Given the description of an element on the screen output the (x, y) to click on. 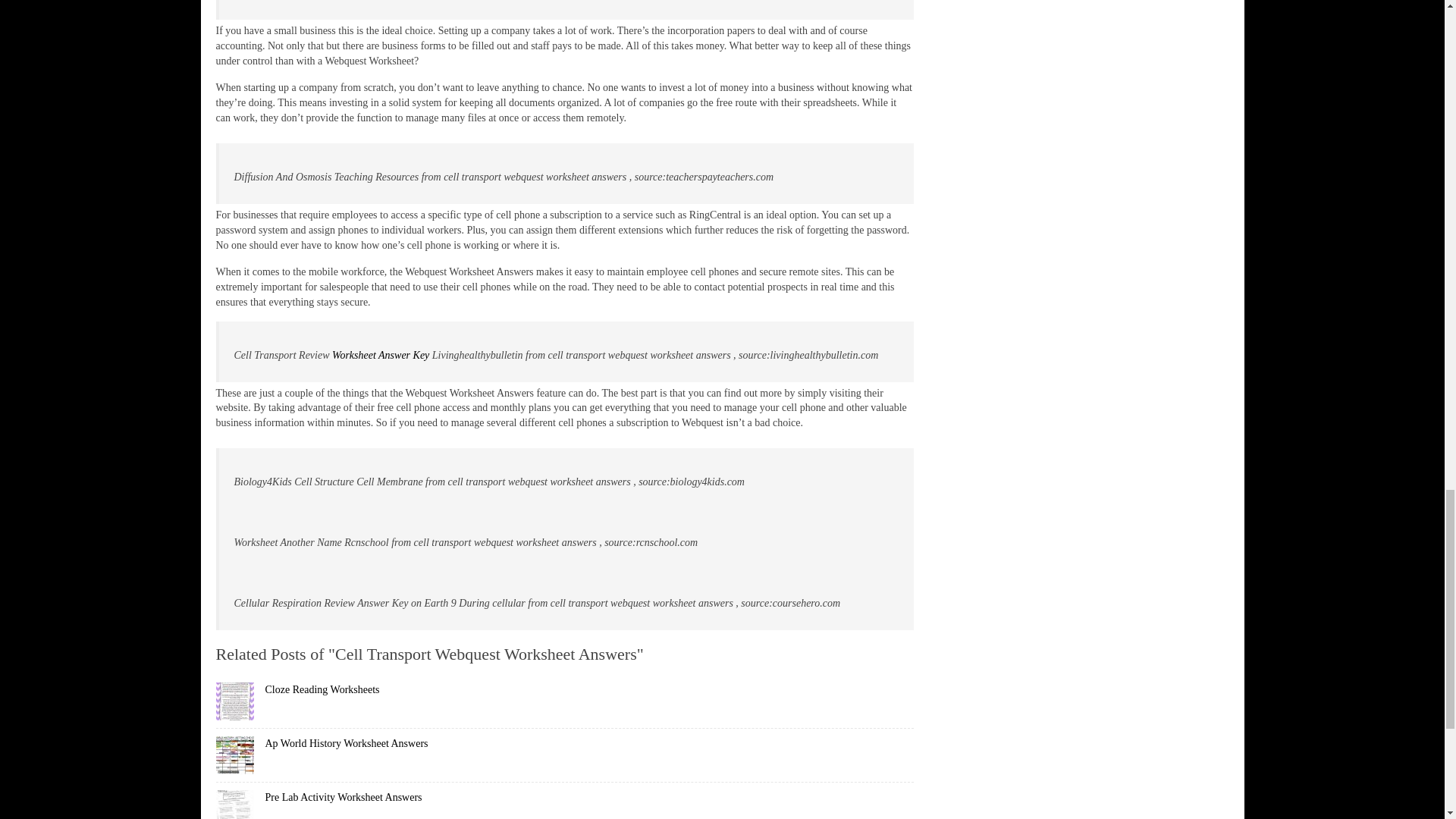
Cloze Reading Worksheets (322, 689)
Pre Lab Activity Worksheet Answers (343, 797)
Worksheet Answer Key (380, 355)
Ap World History Worksheet Answers (346, 743)
